Given the description of an element on the screen output the (x, y) to click on. 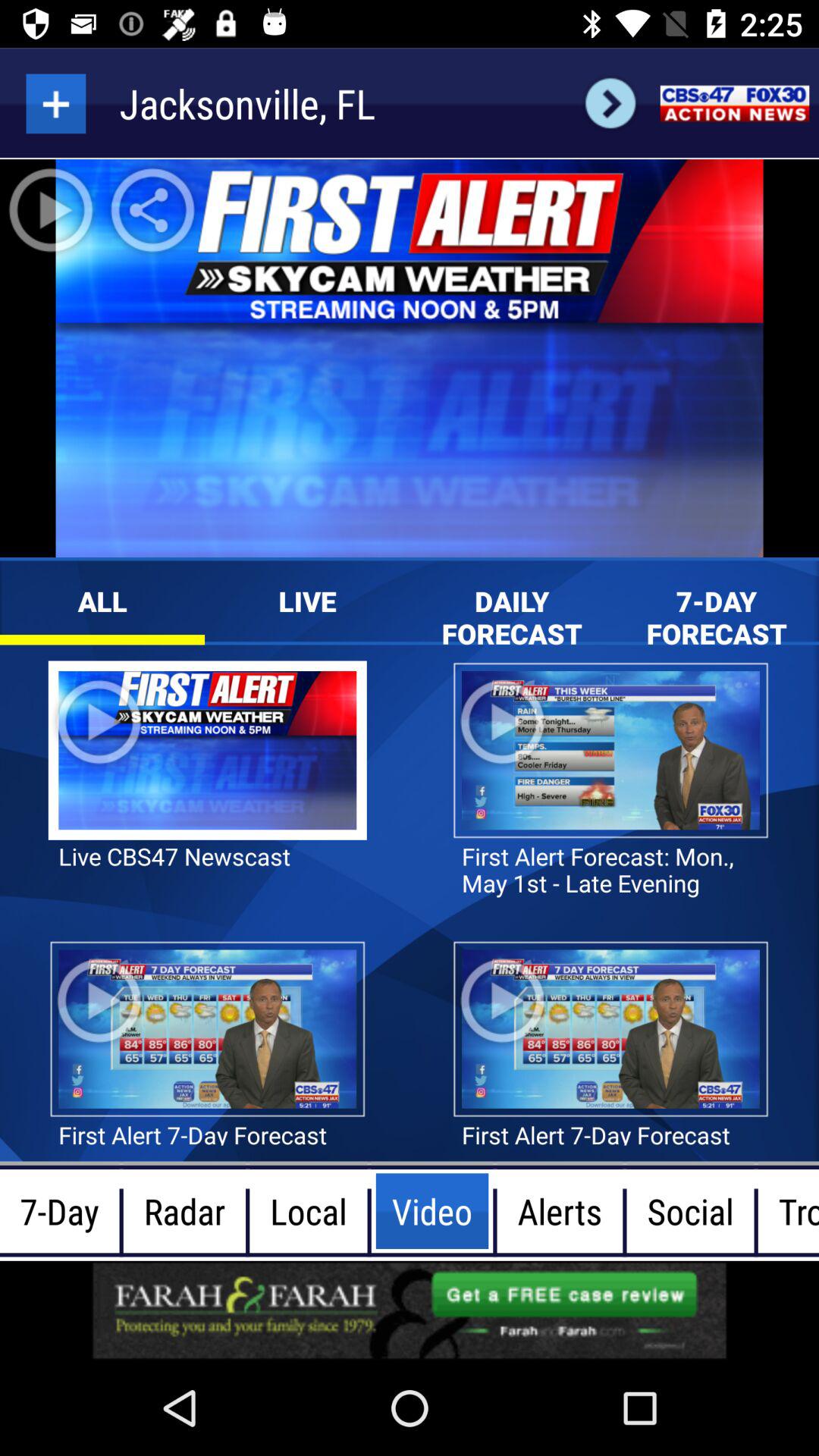
go forward (610, 103)
